Given the description of an element on the screen output the (x, y) to click on. 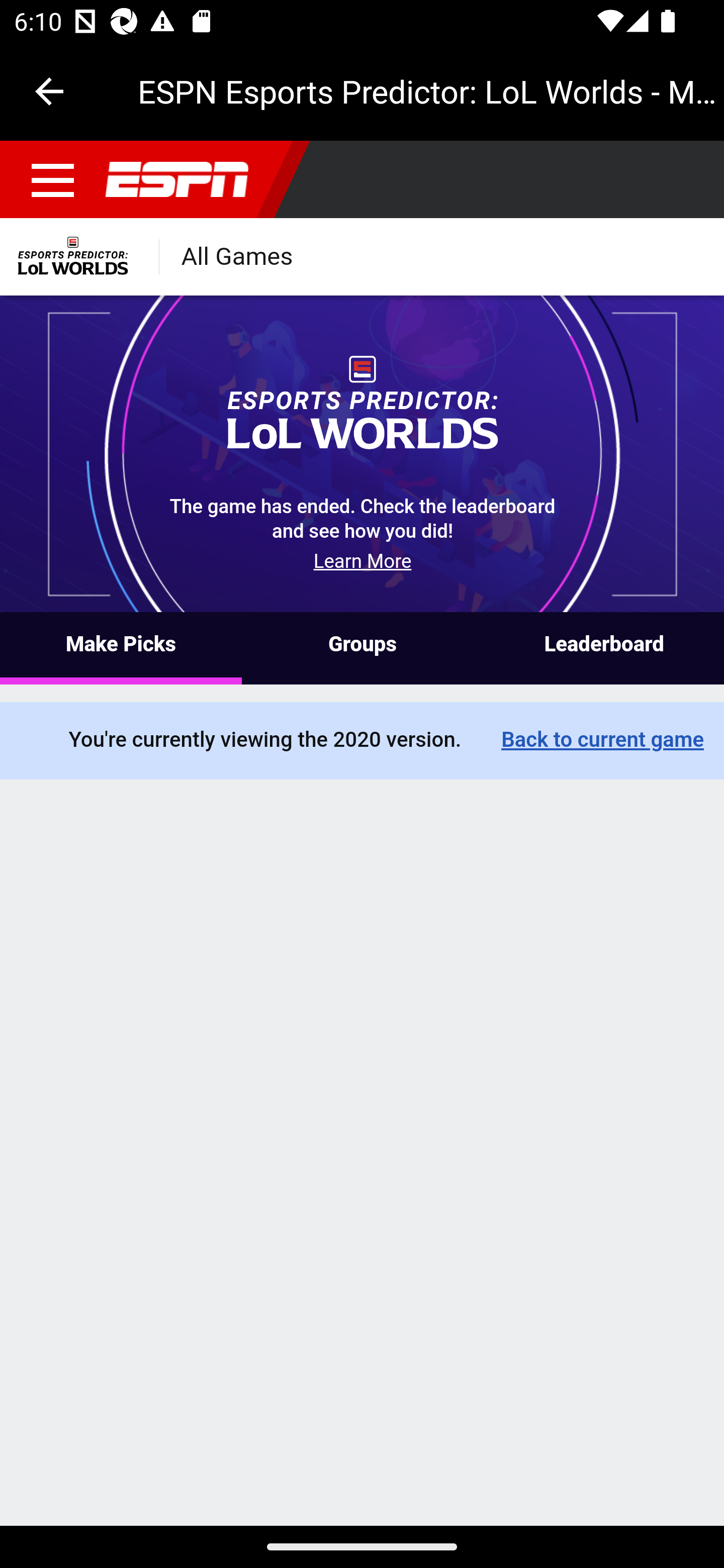
Navigate up (49, 91)
Menu (53, 180)
nav.arialabel.homepage (177, 180)
Learn More (363, 562)
Make Picks Make Picks Make Picks (121, 648)
Groups Groups Groups (362, 648)
Leaderboard Leaderboard Leaderboard (603, 648)
Back to current game (602, 740)
